Given the description of an element on the screen output the (x, y) to click on. 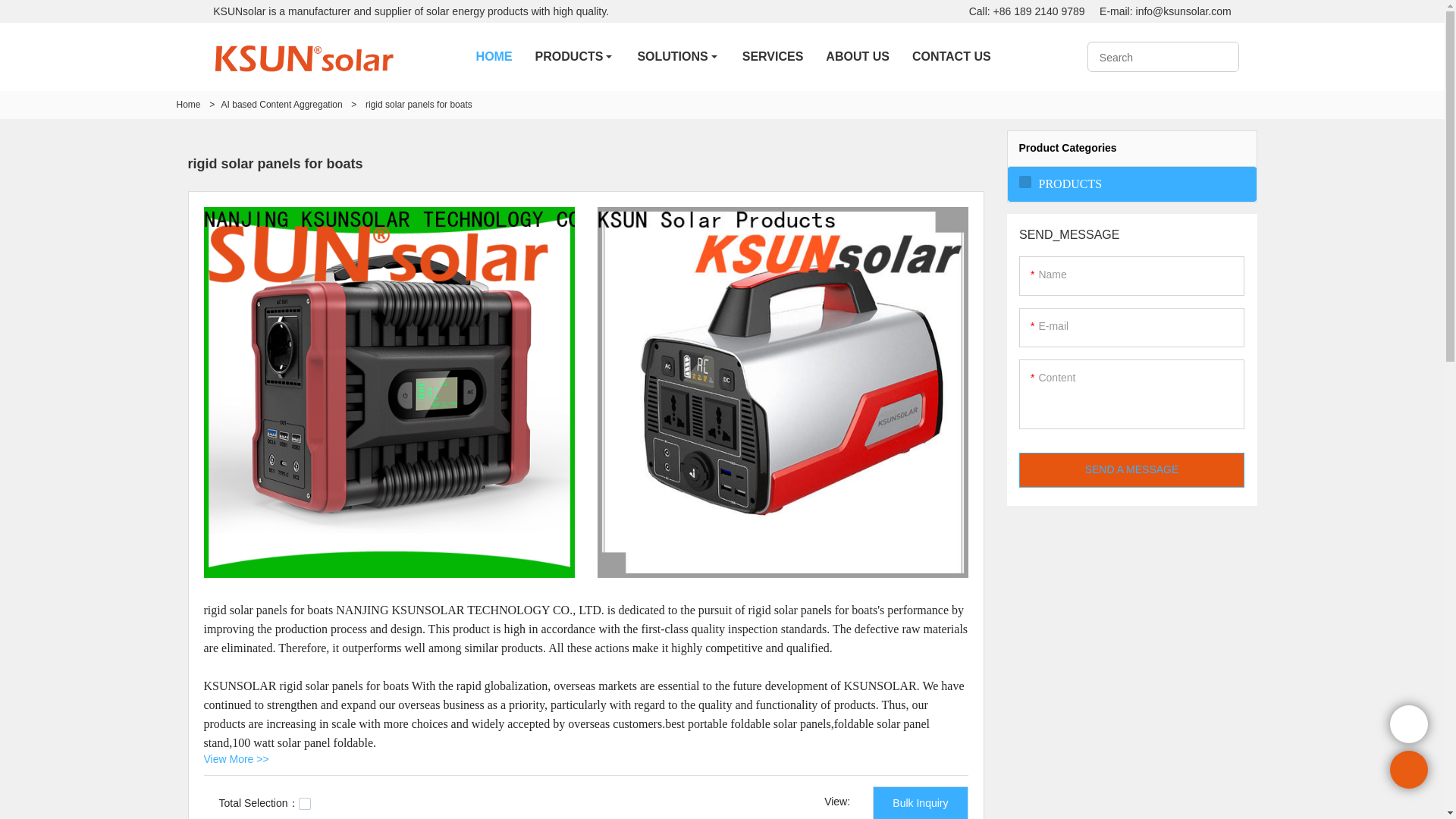
SOLUTIONS (678, 56)
SERVICES (772, 56)
CONTACT US (952, 56)
Home (188, 104)
on (304, 803)
AI based Content Aggregation (281, 104)
ABOUT US (857, 56)
PRODUCTS (575, 56)
